Given the description of an element on the screen output the (x, y) to click on. 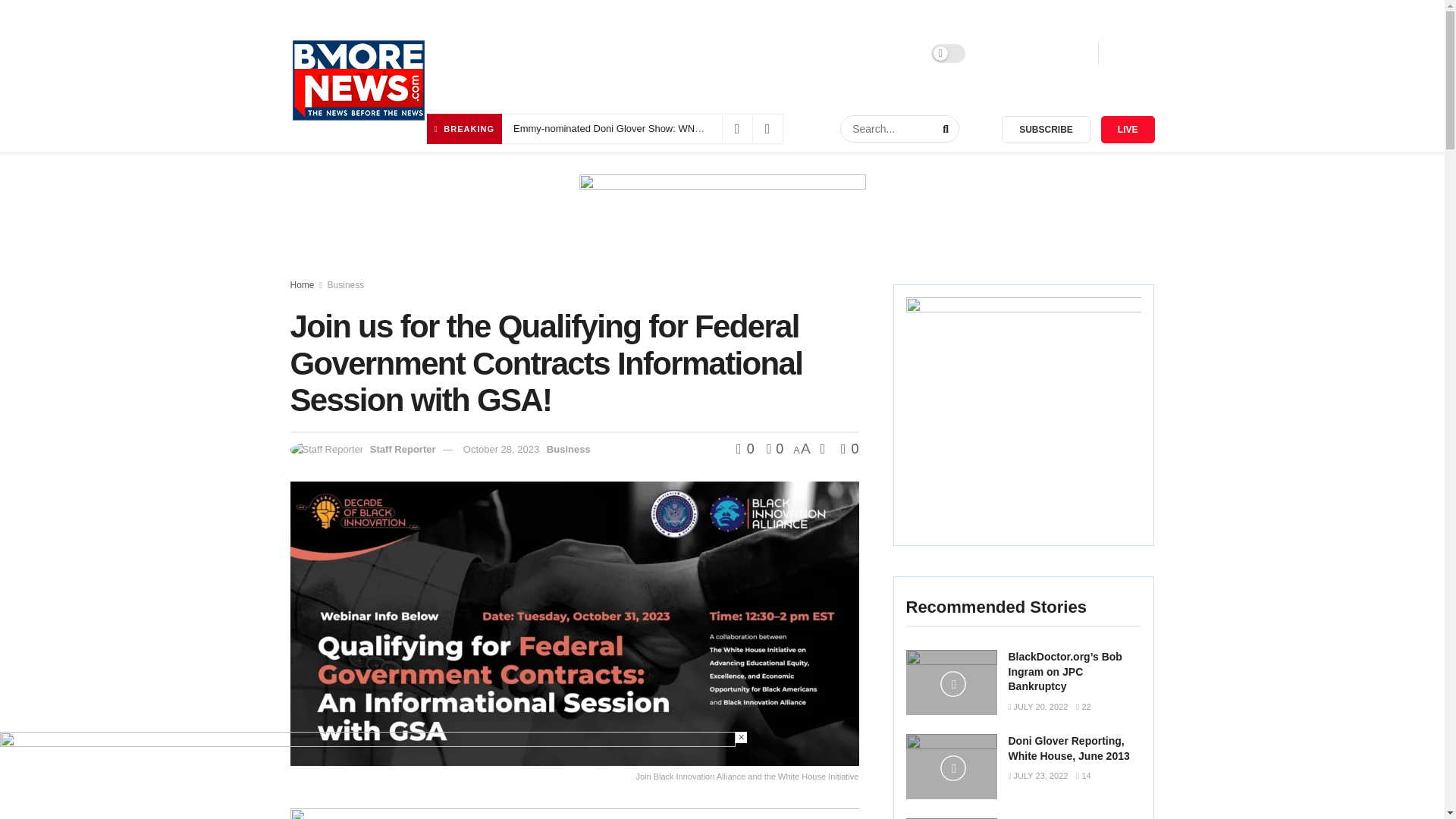
STOCKS (773, 53)
Login (1005, 53)
VIDEOS (901, 53)
SUBSCRIBE (1045, 129)
LIVE (1127, 129)
close (740, 737)
Register (1061, 53)
BLACK WALL STREET (604, 53)
BUSINESS (707, 53)
